Given the description of an element on the screen output the (x, y) to click on. 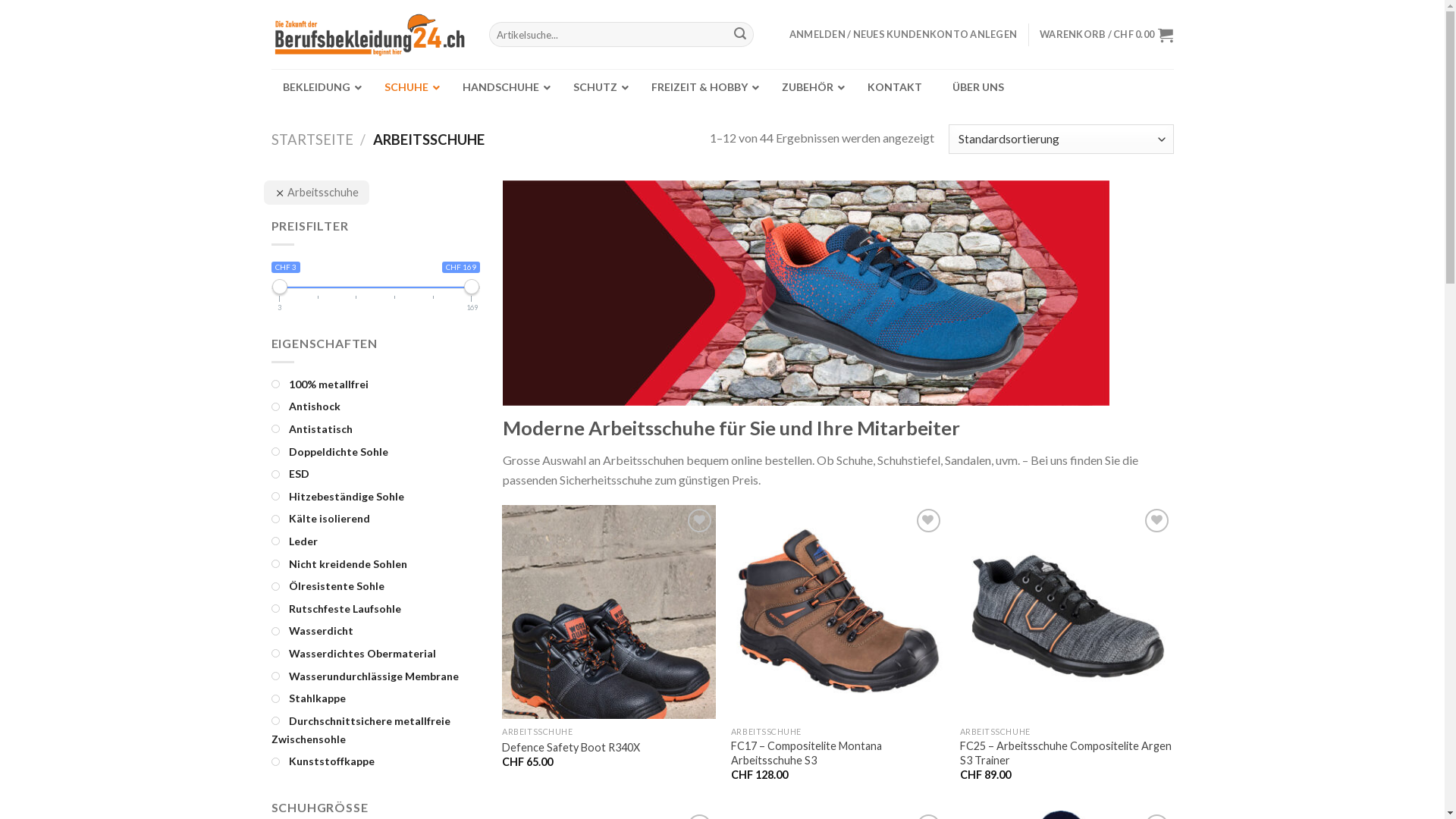
ANMELDEN / NEUES KUNDENKONTO ANLEGEN Element type: text (902, 33)
Defence Safety Boot R340X Element type: text (571, 747)
STARTSEITE Element type: text (312, 139)
WARENKORB / CHF 0.00 Element type: text (1106, 34)
KONTAKT Element type: text (894, 87)
HANDSCHUHE Element type: text (502, 87)
Suche Element type: text (740, 34)
SCHUTZ Element type: text (597, 87)
FREIZEIT & HOBBY Element type: text (700, 87)
BEKLEIDUNG Element type: text (317, 87)
SCHUHE Element type: text (407, 87)
